Given the description of an element on the screen output the (x, y) to click on. 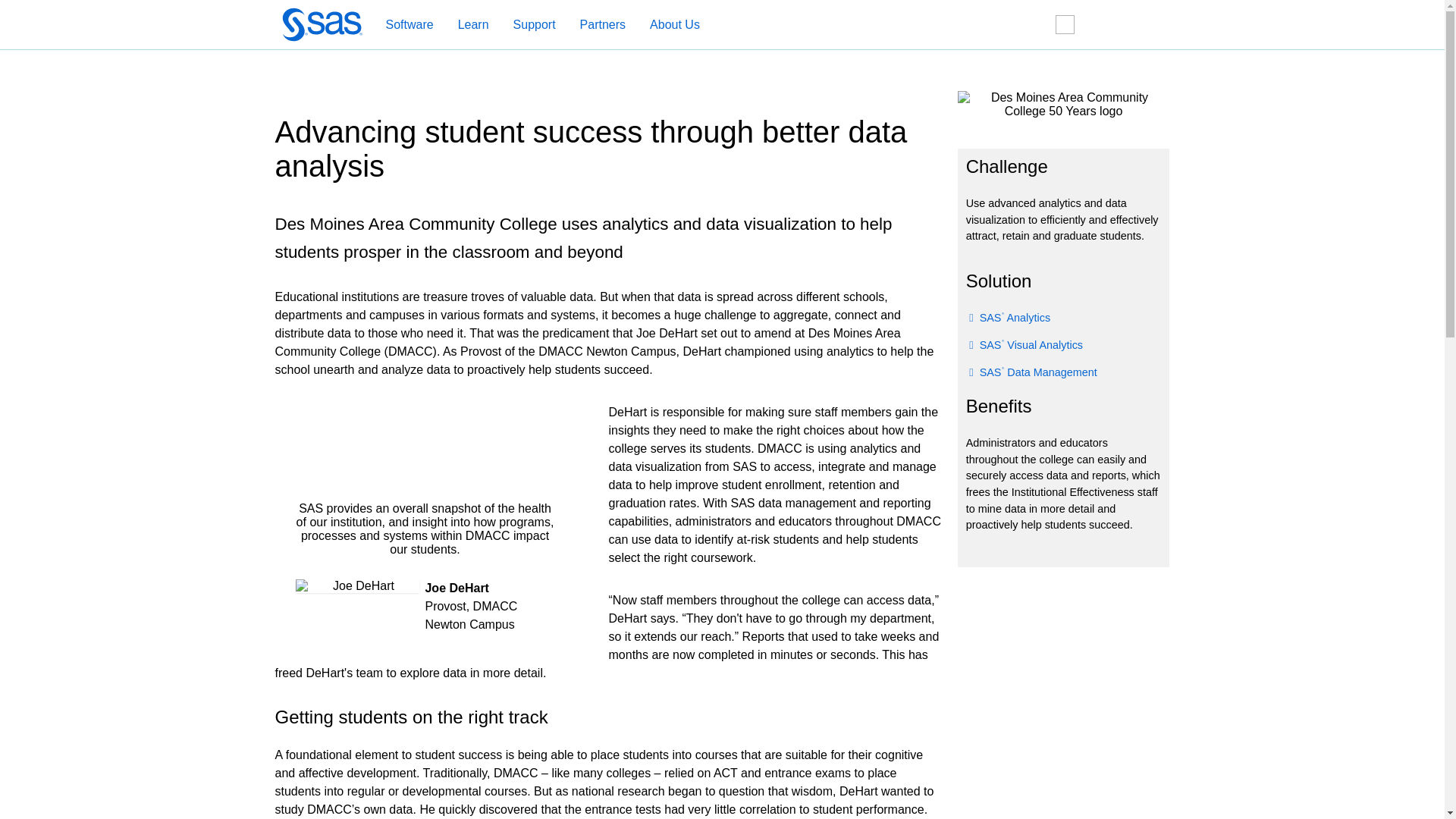
About Us (667, 24)
Support (526, 24)
SAS Sites (1141, 25)
Software (401, 24)
Des Moines Area Community College 50 Years logo (1062, 103)
Software (409, 24)
Contact Us (1108, 25)
Des Moines Area Community College Joe DeHart (357, 585)
Search (1037, 25)
About Us (674, 24)
Worldwide Sites (1072, 24)
Learn (472, 24)
Support (534, 24)
Partners (595, 24)
